Given the description of an element on the screen output the (x, y) to click on. 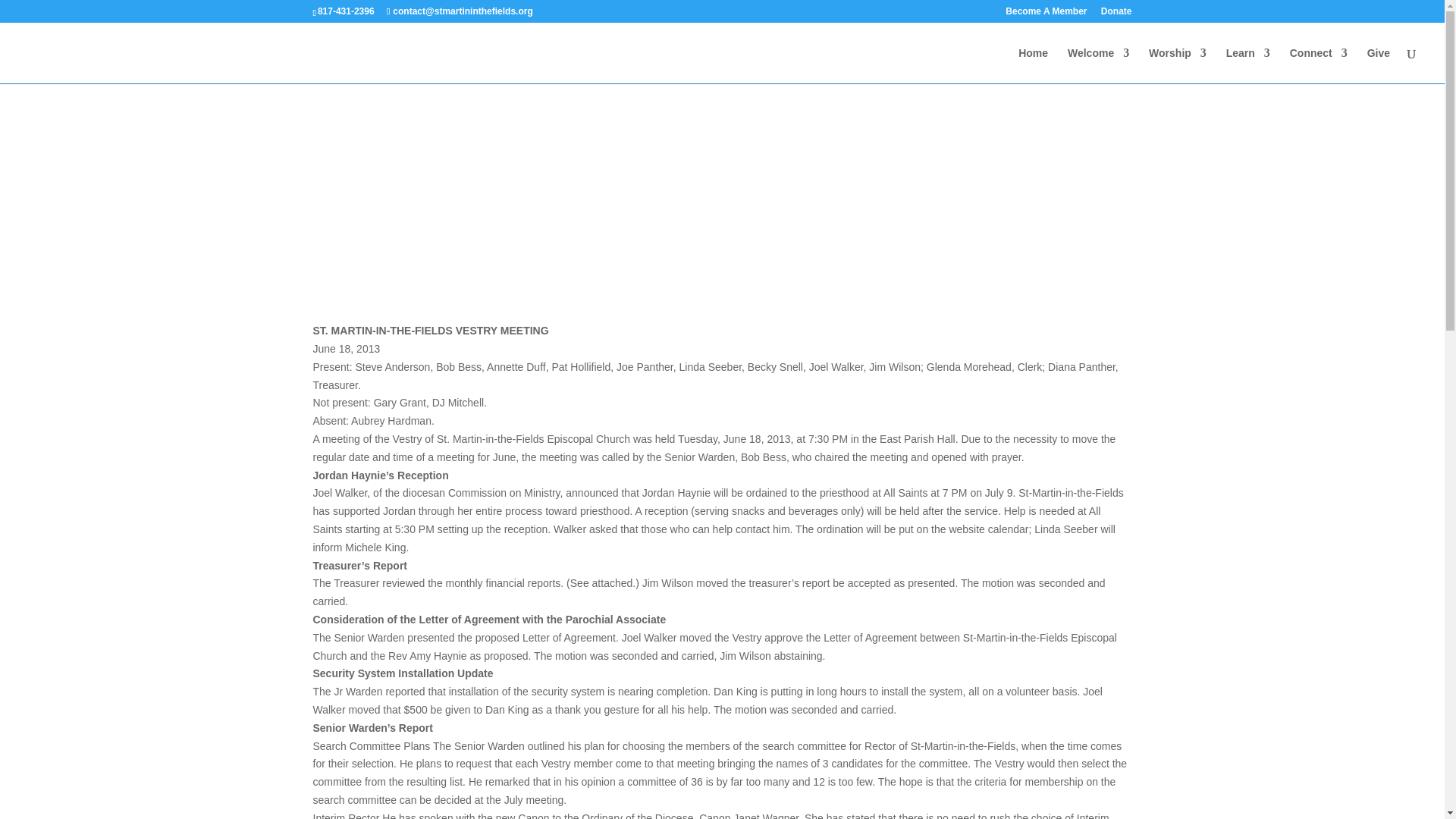
Welcome (1098, 65)
Worship (1177, 65)
Become A Member (1046, 14)
817-431-2396 (345, 10)
Donate (1116, 14)
Connect (1319, 65)
Learn (1247, 65)
